Given the description of an element on the screen output the (x, y) to click on. 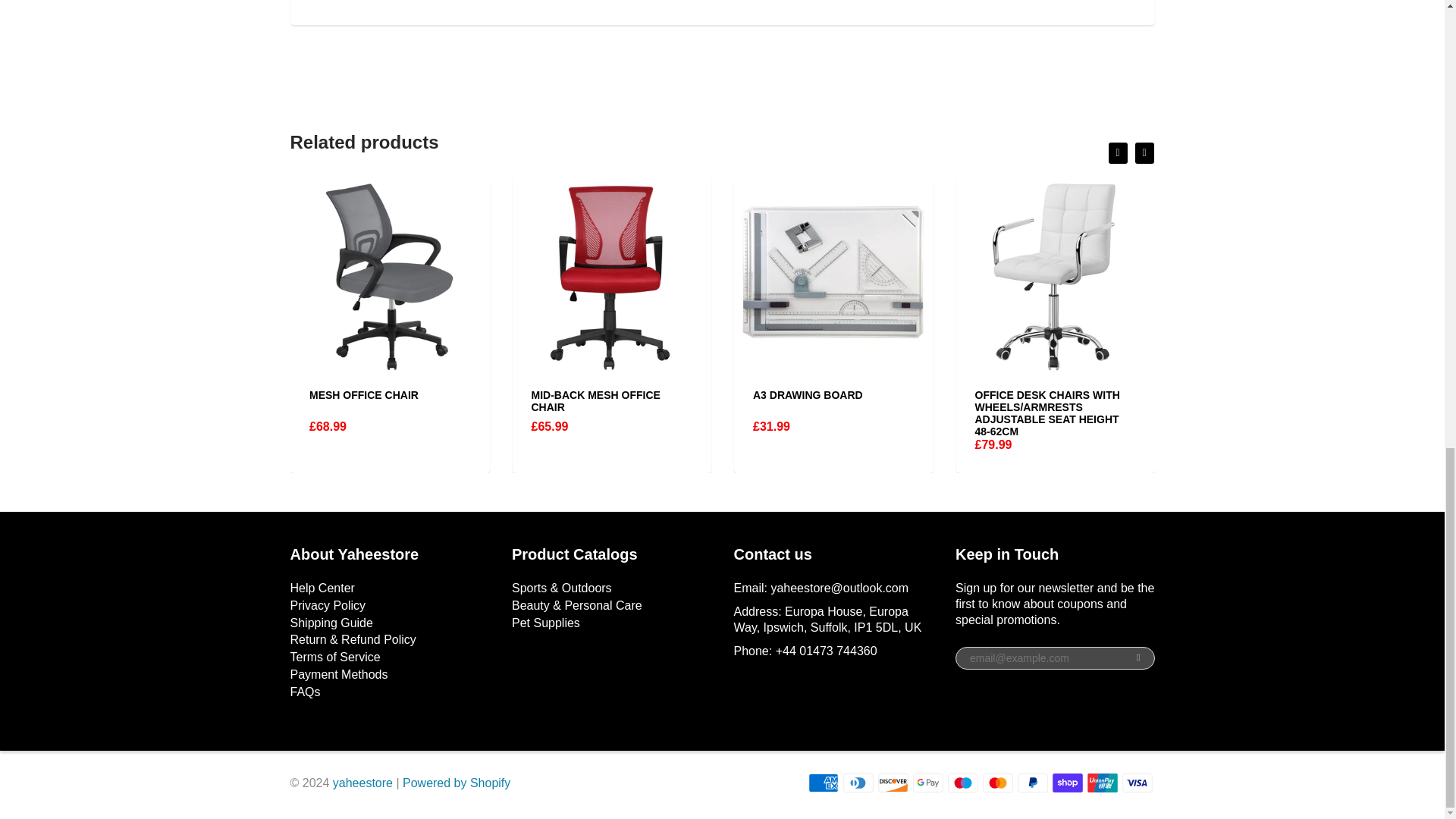
Diners Club (858, 782)
Union Pay (1102, 782)
PayPal (1032, 782)
Discover (892, 782)
Google Pay (927, 782)
American Express (823, 782)
Shop Pay (1067, 782)
Visa (1137, 782)
Mastercard (997, 782)
Maestro (962, 782)
